Given the description of an element on the screen output the (x, y) to click on. 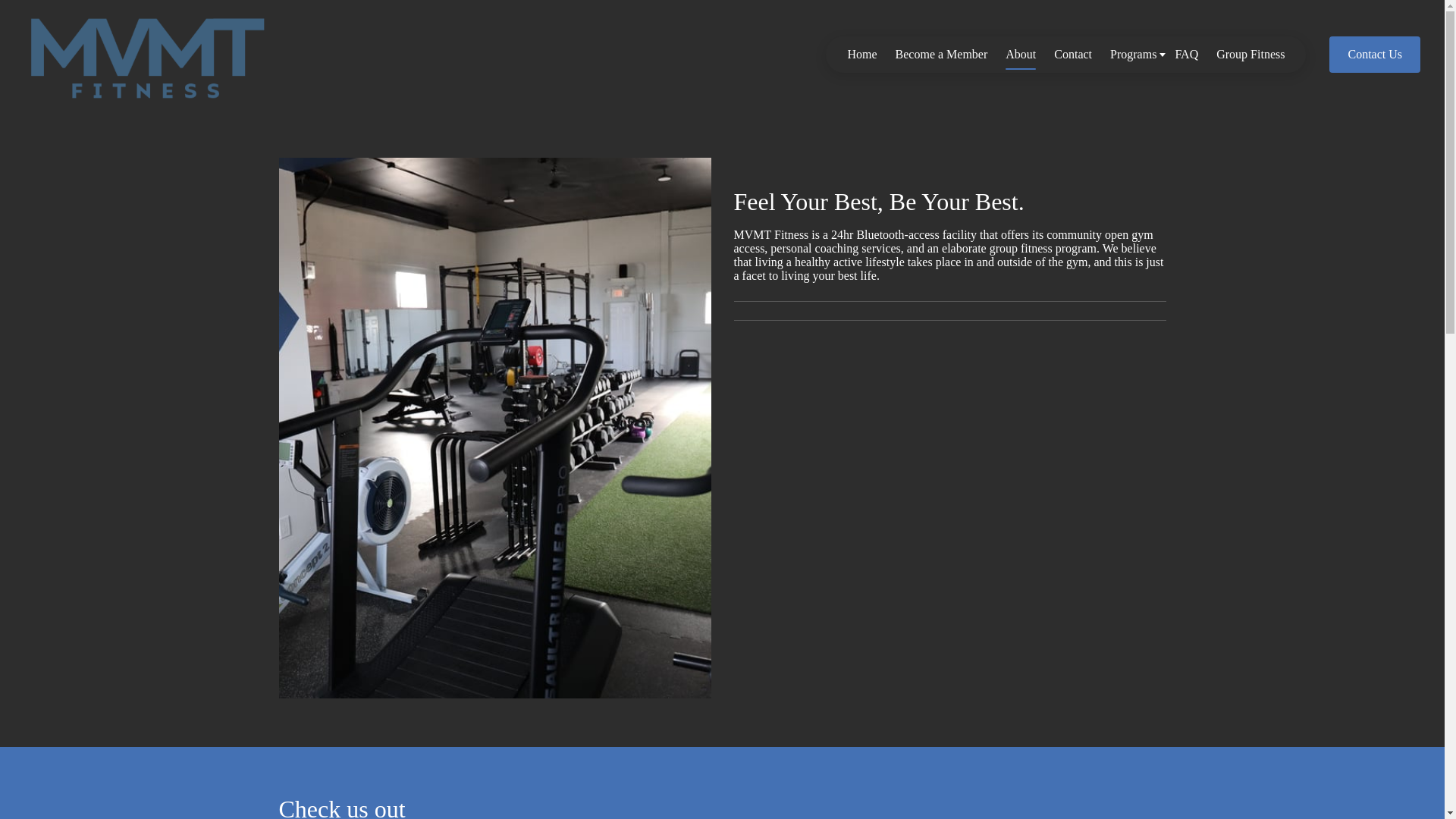
Group Fitness (1250, 54)
FAQ (1186, 54)
Programs (1133, 54)
Contact (1072, 54)
Home (861, 54)
About (1020, 54)
Contact Us (1375, 54)
Become a Member (941, 54)
